Given the description of an element on the screen output the (x, y) to click on. 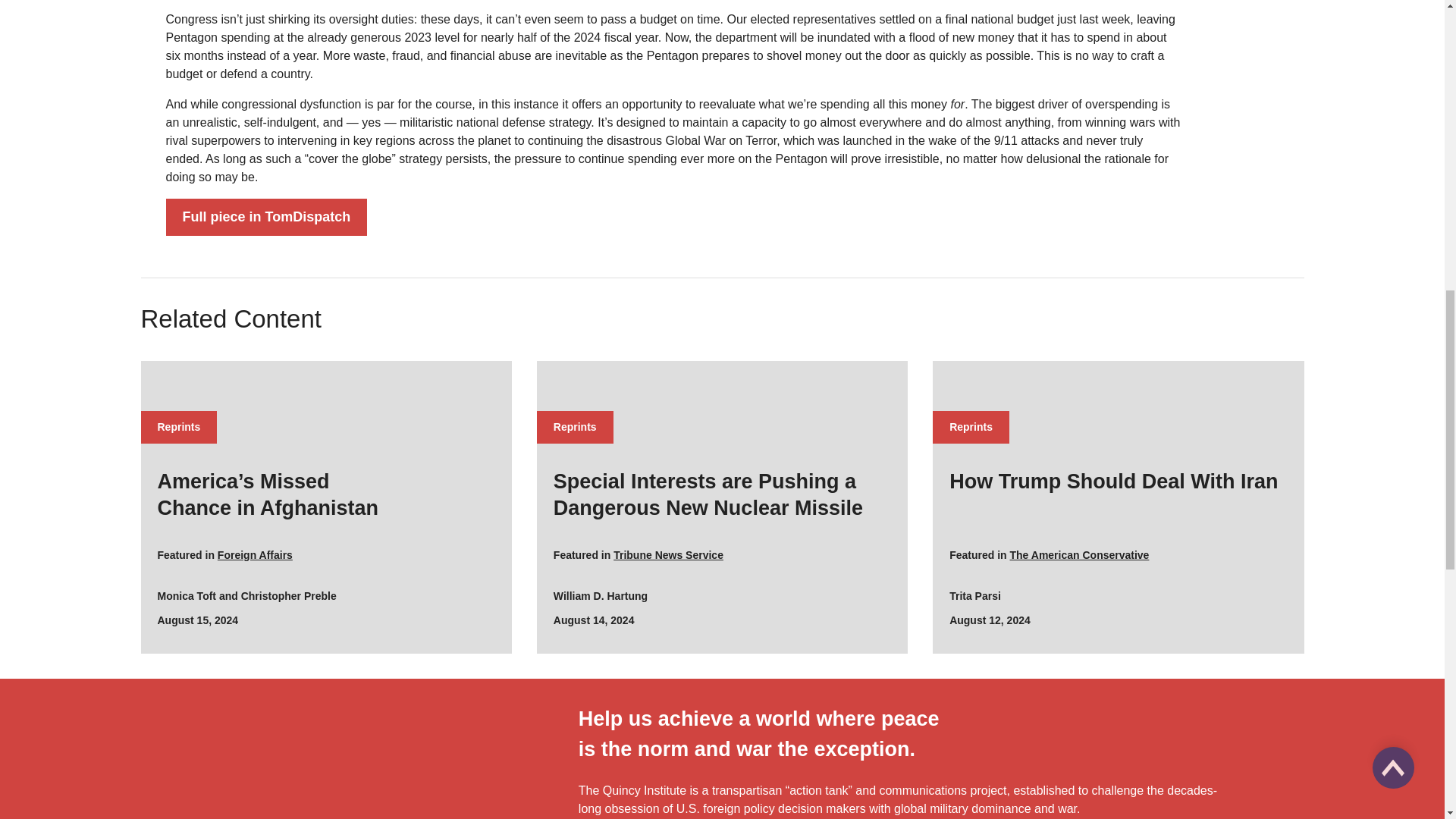
Posts by Christopher Preble (288, 595)
Posts by Trita Parsi (975, 595)
How Trump Should Deal With Iran (1118, 481)
Posts by Monica Toft (186, 595)
Posts by William D. Hartung (600, 595)
